Given the description of an element on the screen output the (x, y) to click on. 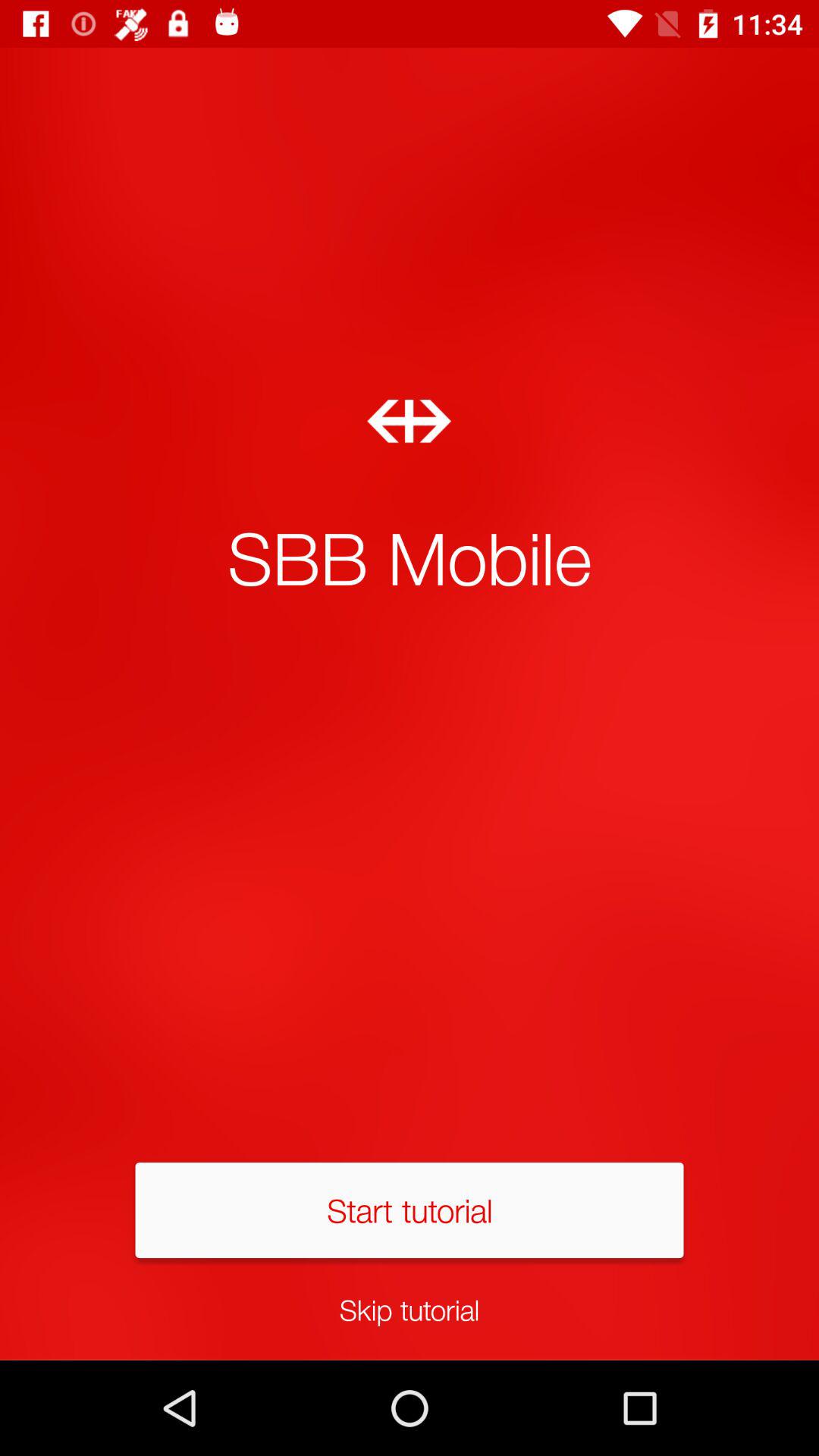
jump to skip tutorial item (409, 1309)
